Given the description of an element on the screen output the (x, y) to click on. 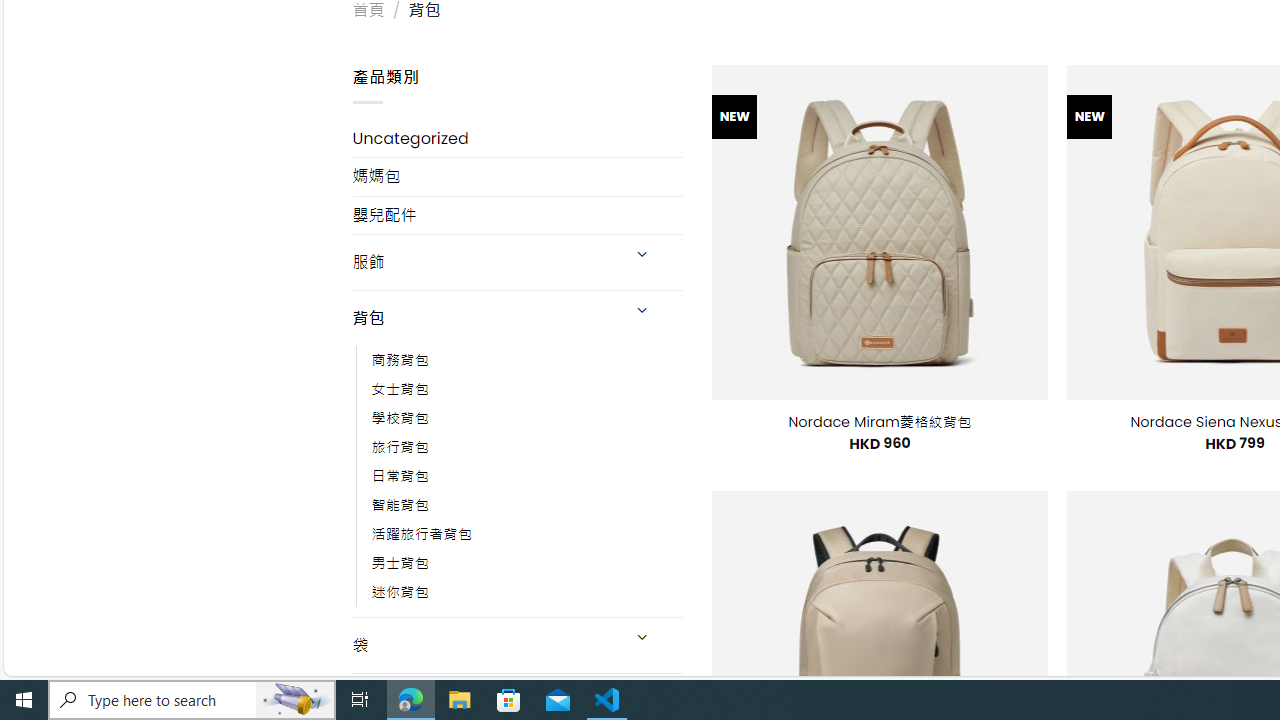
Uncategorized (517, 137)
